Given the description of an element on the screen output the (x, y) to click on. 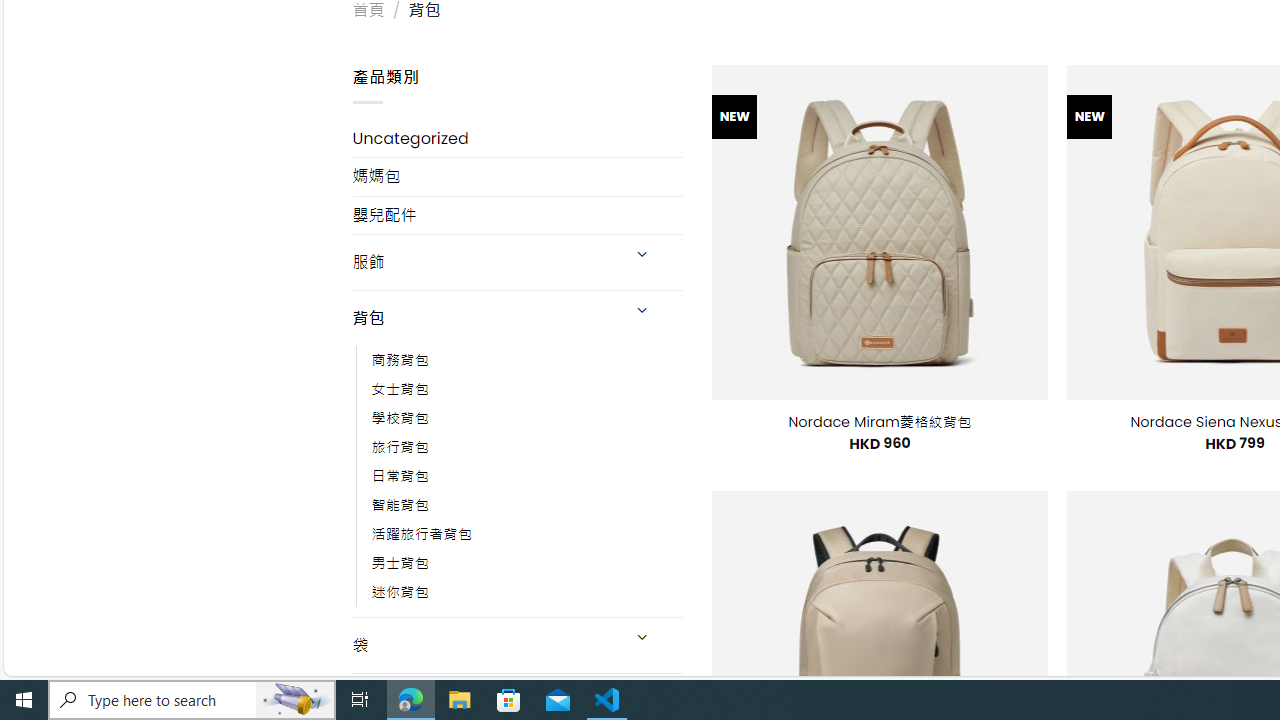
Uncategorized (517, 137)
